Given the description of an element on the screen output the (x, y) to click on. 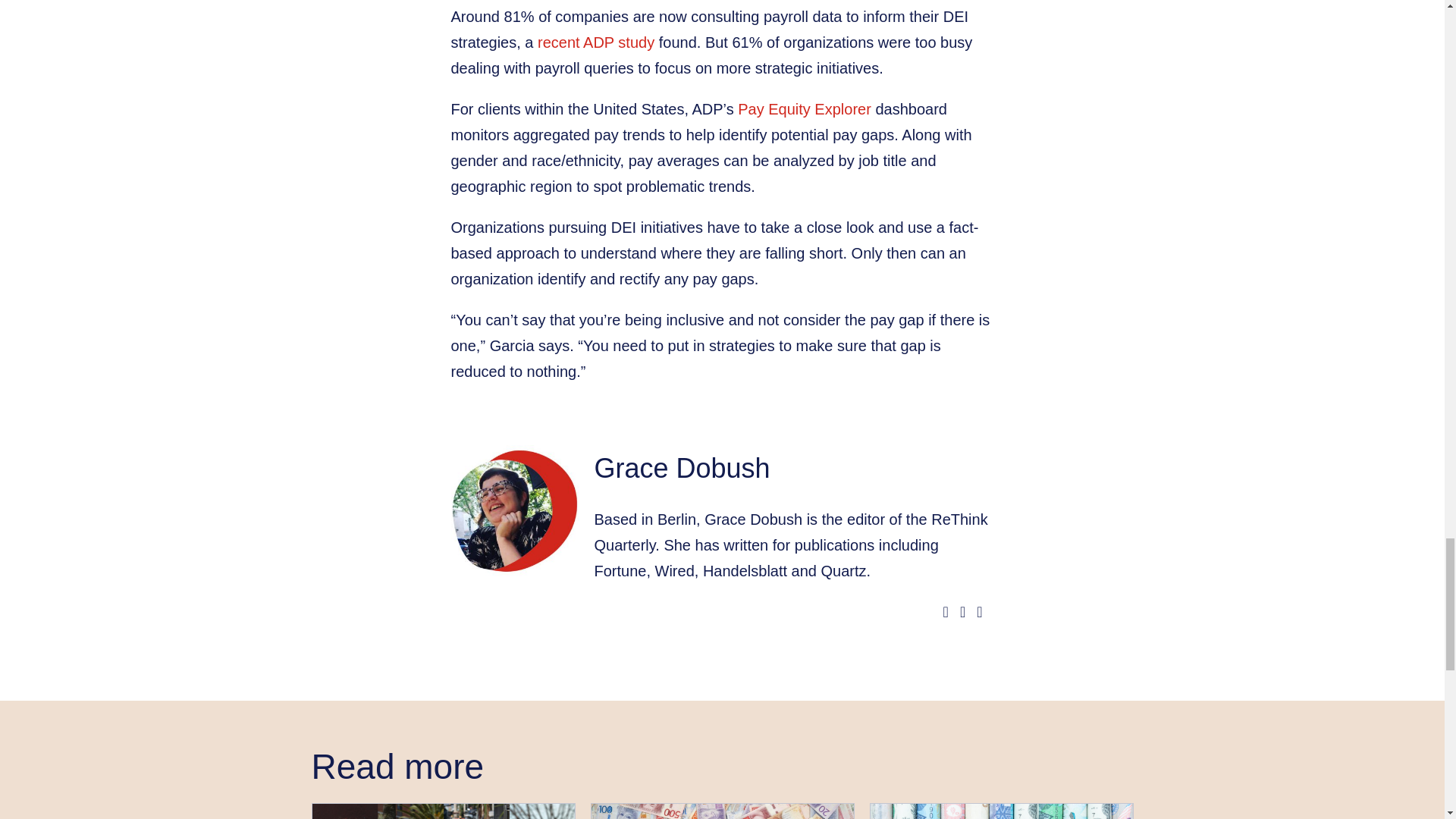
Grace Dobush (682, 468)
recent ADP study (595, 42)
Pay Equity Explorer (804, 108)
